Given the description of an element on the screen output the (x, y) to click on. 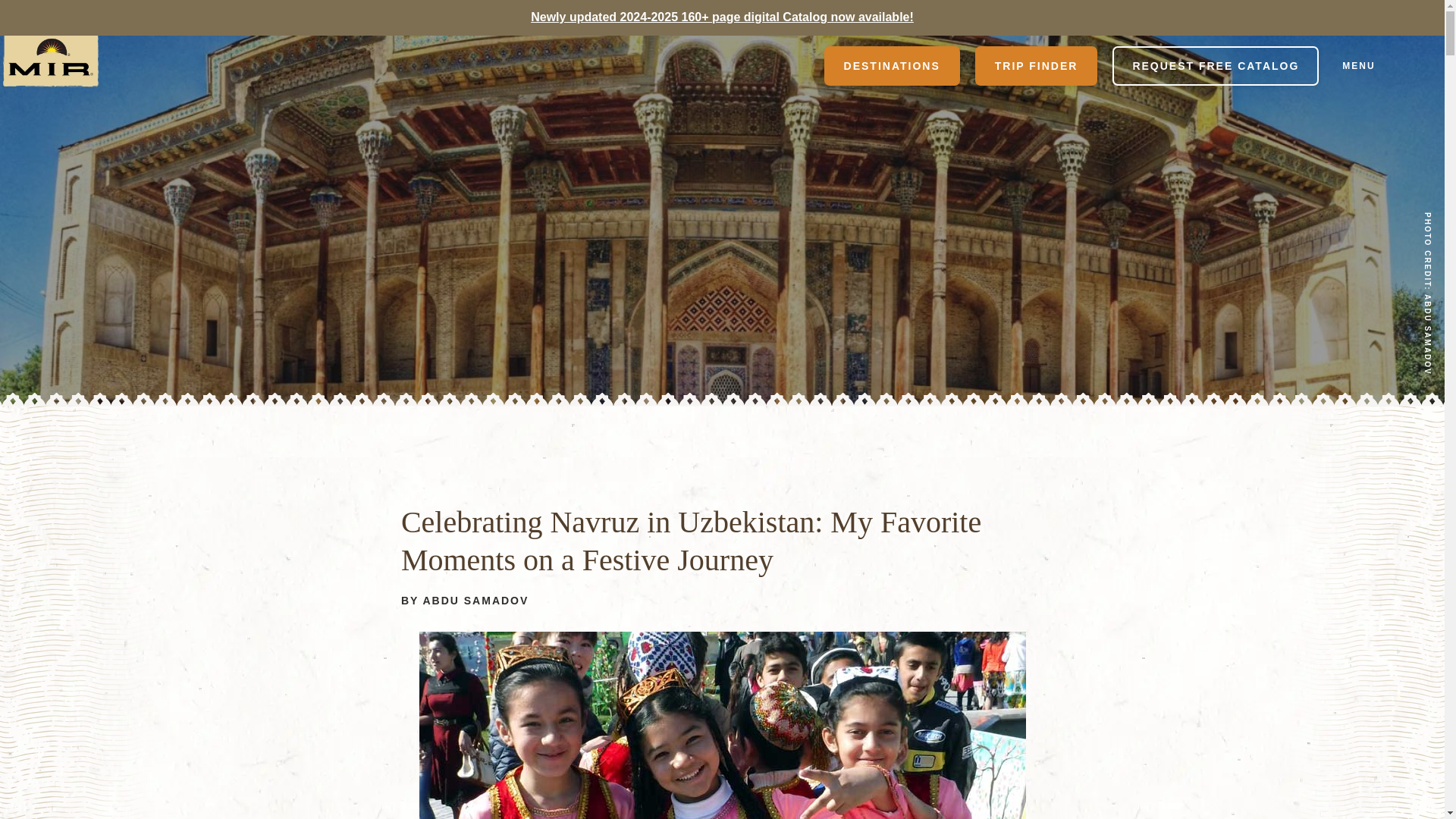
DESTINATIONS (891, 65)
BY ABDU SAMADOV (464, 600)
REQUEST FREE CATALOG (1215, 65)
MENU (1381, 66)
Search (770, 65)
TRIP FINDER (1036, 65)
